Given the description of an element on the screen output the (x, y) to click on. 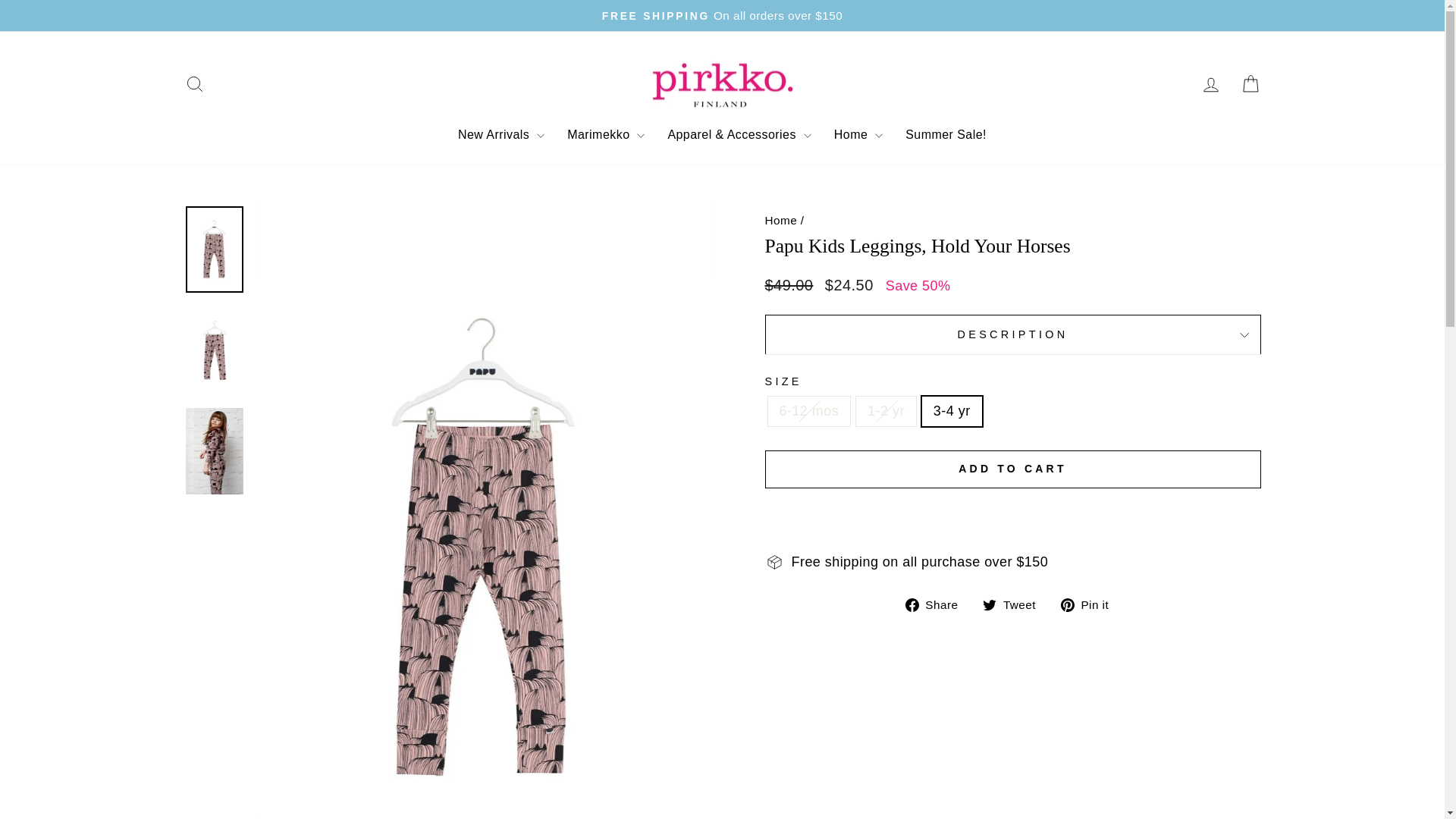
icon-search (194, 84)
account (1210, 84)
Back to the frontpage (780, 219)
Pin on Pinterest (1090, 603)
Tweet on Twitter (1014, 603)
twitter (988, 604)
Share on Facebook (937, 603)
